Given the description of an element on the screen output the (x, y) to click on. 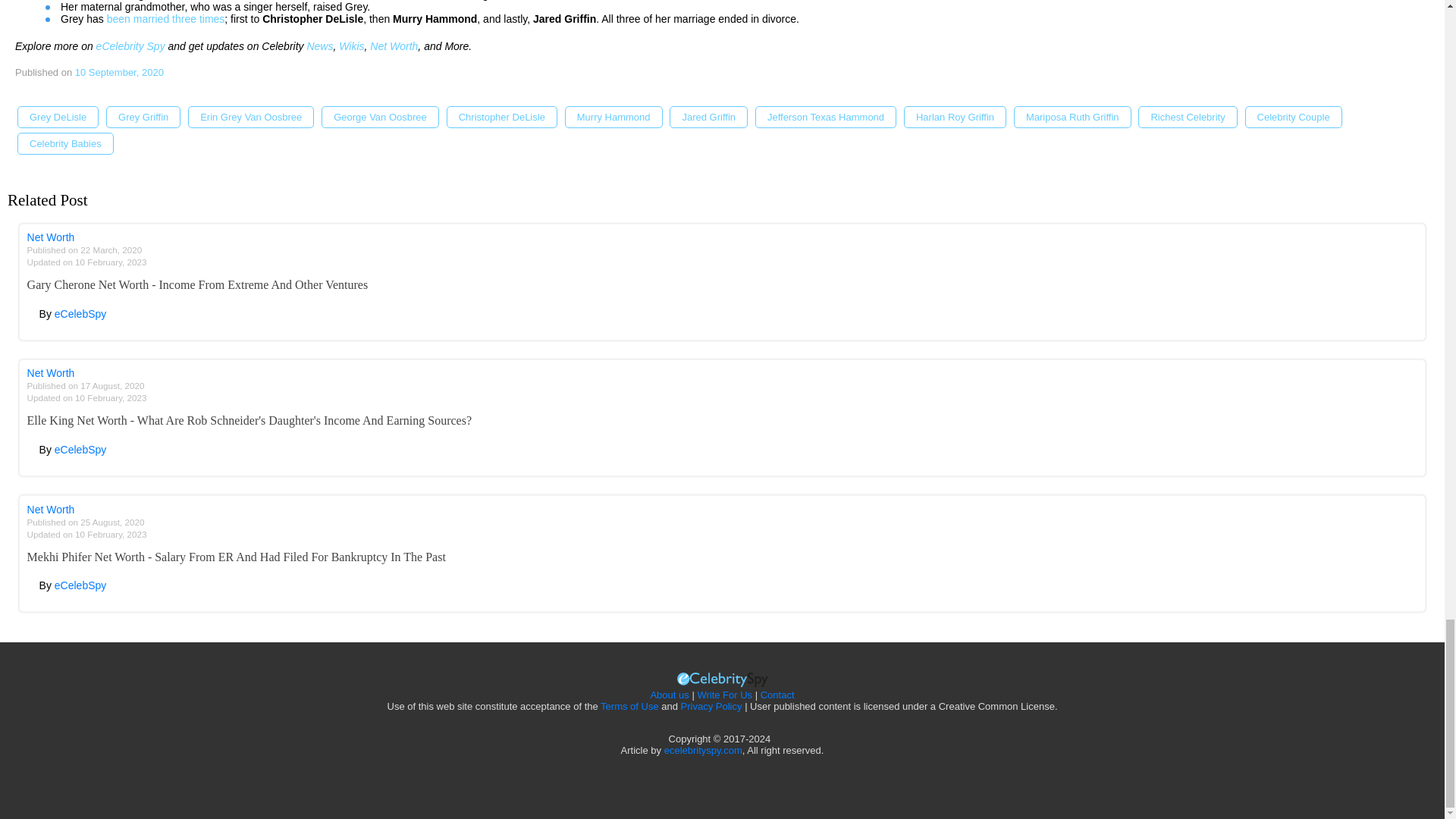
Celebrity Couple (1293, 116)
Jefferson Texas Hammond (825, 116)
Grey DeLisle (58, 116)
Grey Griffin (143, 116)
Harlan Roy Griffin (955, 116)
George Van Oosbree (380, 116)
Richest Celebrity (1187, 116)
Erin Grey Van Oosbree (250, 116)
eCelebrity Spy (130, 46)
been married three times (165, 19)
Wikis (351, 46)
Net Worth (393, 46)
Mariposa Ruth Griffin (1072, 116)
News (319, 46)
Jared Griffin (708, 116)
